Given the description of an element on the screen output the (x, y) to click on. 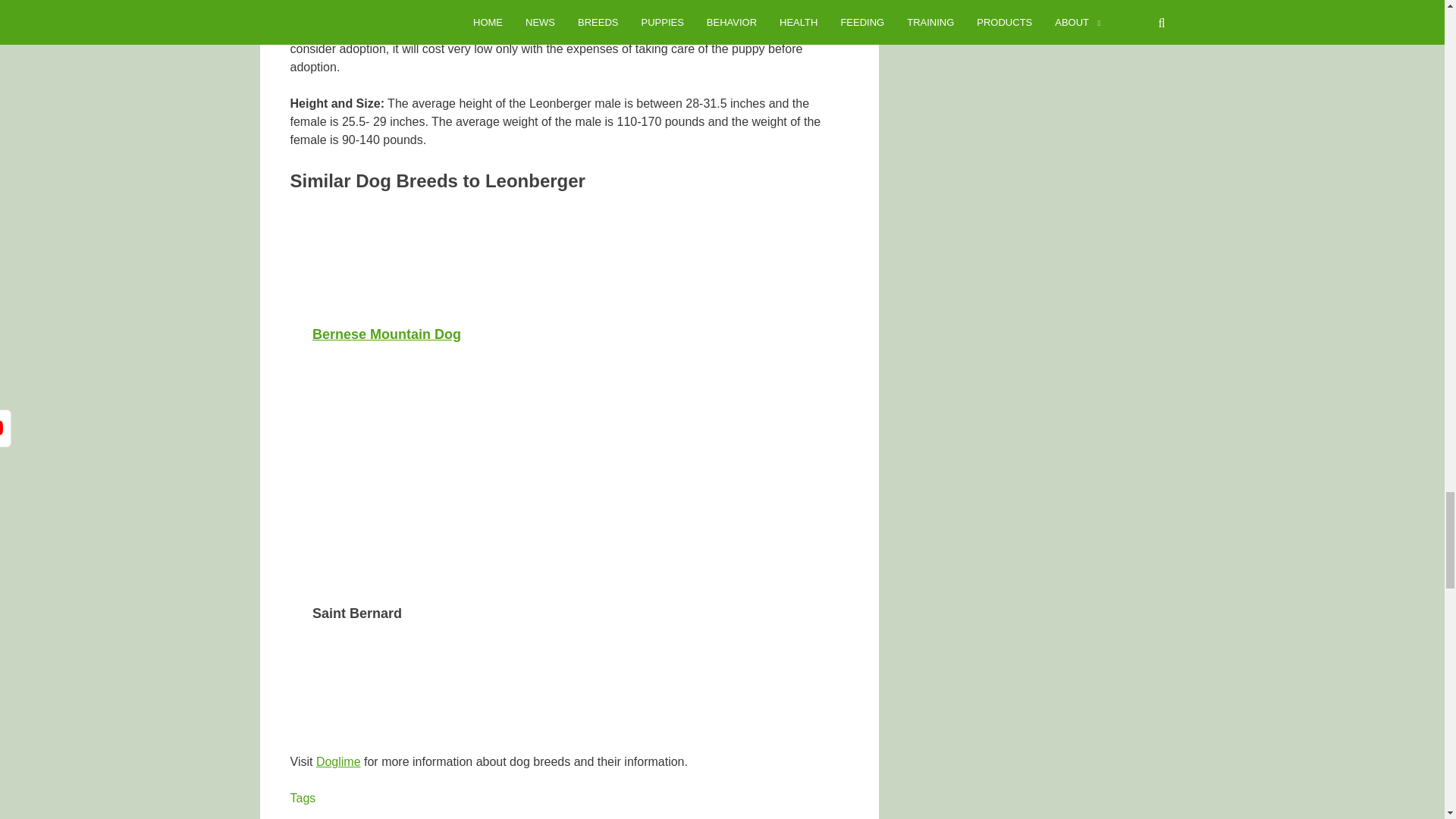
Doglime (338, 761)
Bernese Mountain Dog (387, 334)
